Given the description of an element on the screen output the (x, y) to click on. 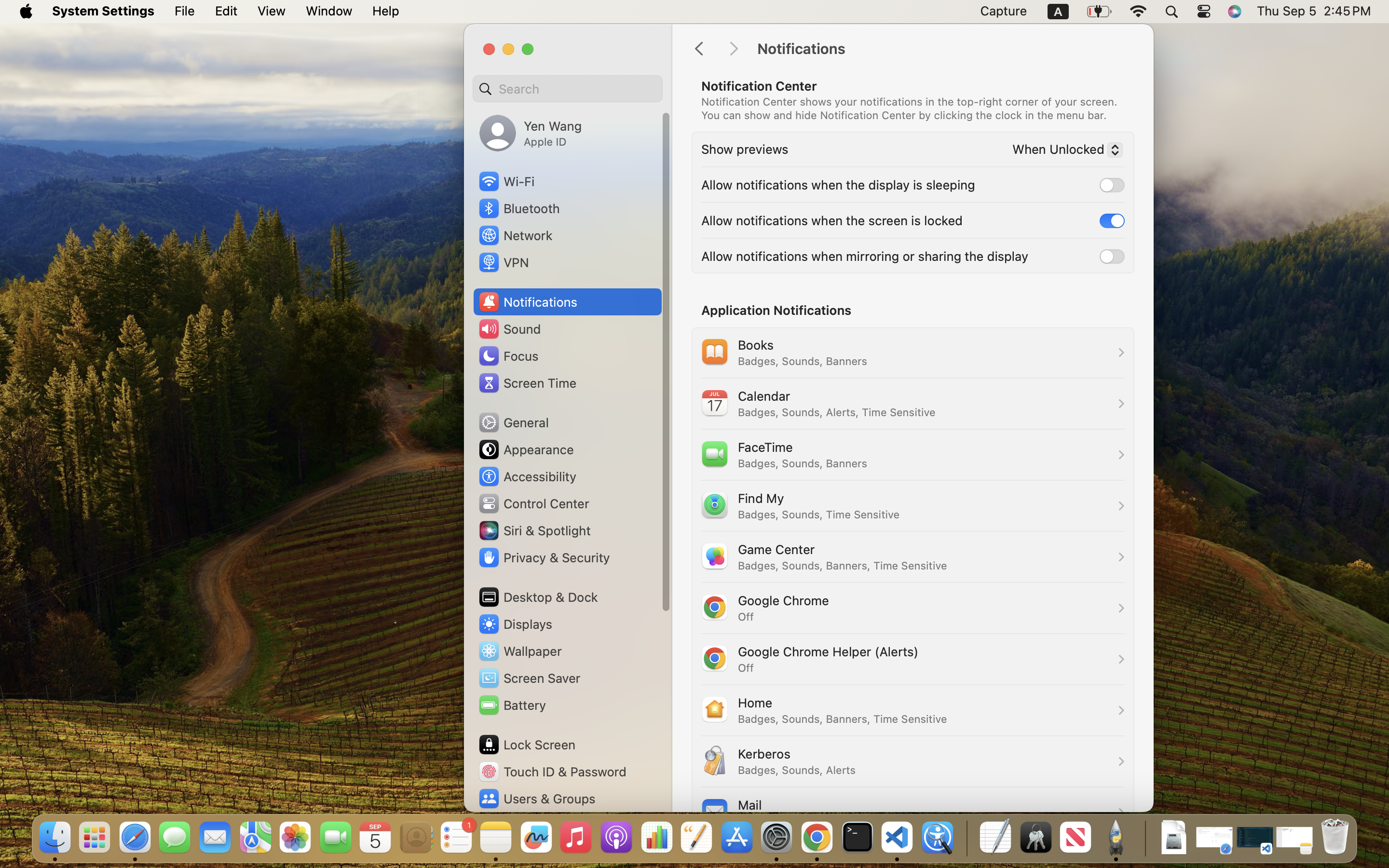
Network Element type: AXStaticText (514, 234)
Screen Time Element type: AXStaticText (526, 382)
General Element type: AXStaticText (512, 422)
Privacy & Security Element type: AXStaticText (543, 557)
Control Center Element type: AXStaticText (533, 503)
